Given the description of an element on the screen output the (x, y) to click on. 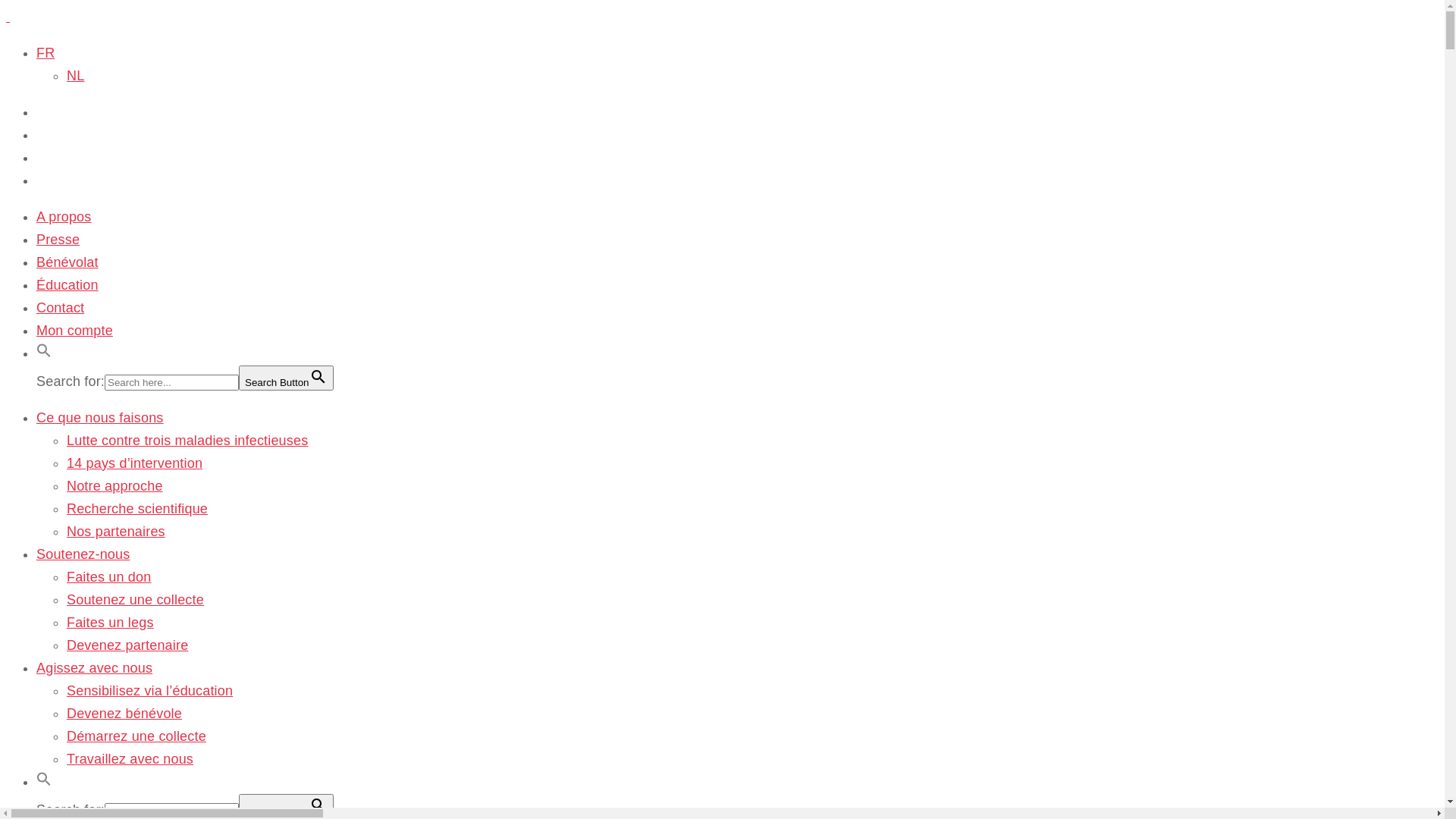
Faites un don Element type: text (108, 576)
Search Button Element type: text (285, 805)
Faites un legs Element type: text (109, 622)
Lutte contre trois maladies infectieuses Element type: text (186, 440)
Presse Element type: text (57, 239)
Search Button Element type: text (285, 377)
Mon compte Element type: text (74, 330)
FR Element type: text (45, 52)
Soutenez-nous Element type: text (82, 553)
NL Element type: text (75, 75)
A propos Element type: text (63, 216)
Recherche scientifique Element type: text (136, 508)
Travaillez avec nous Element type: text (129, 758)
Notre approche Element type: text (114, 485)
Contact Element type: text (60, 307)
Nos partenaires Element type: text (115, 531)
Agissez avec nous Element type: text (94, 667)
Soutenez une collecte Element type: text (134, 599)
Devenez partenaire Element type: text (127, 644)
Ce que nous faisons Element type: text (99, 417)
